Given the description of an element on the screen output the (x, y) to click on. 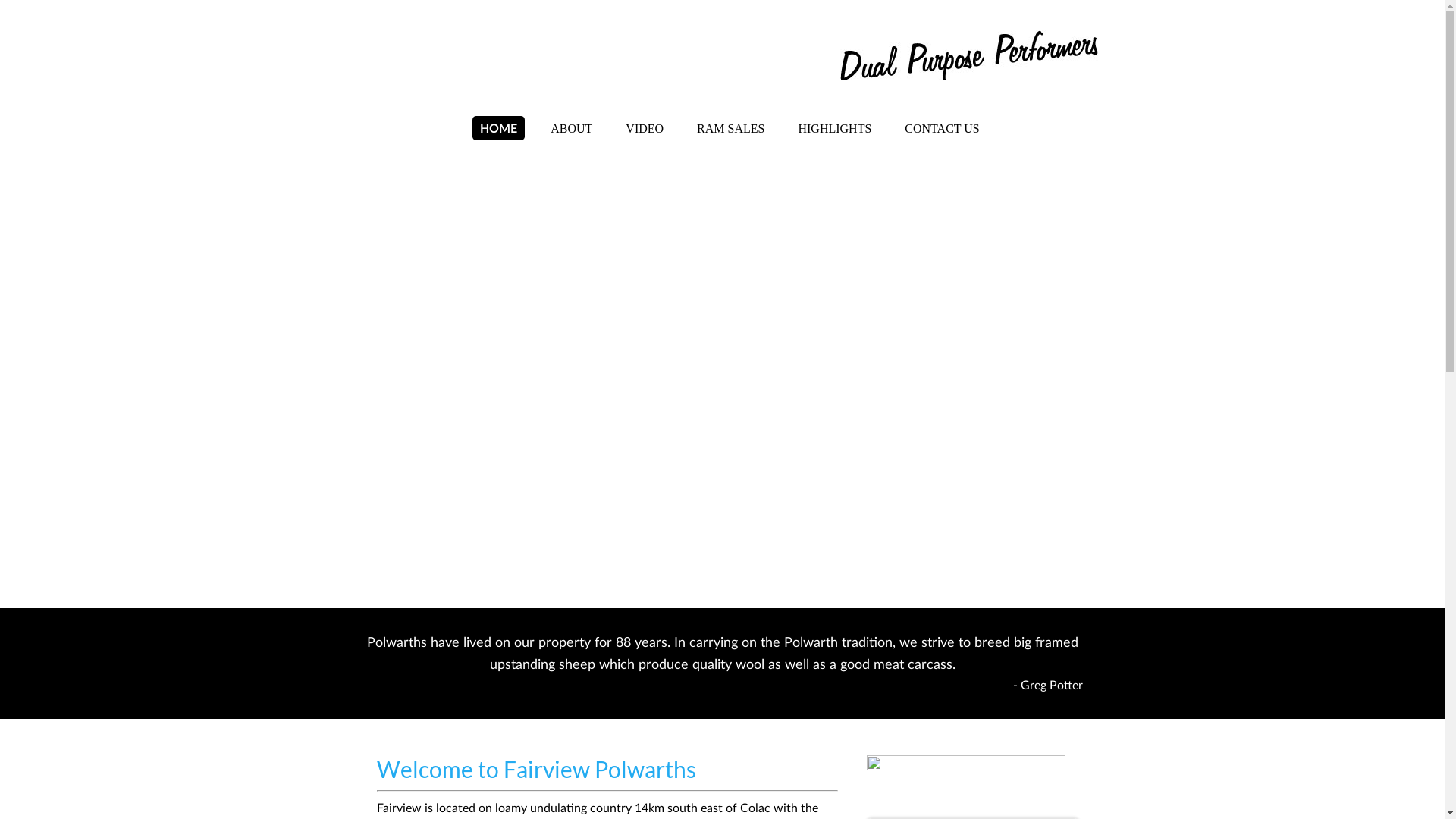
VIDEO Element type: text (644, 128)
RAM SALES Element type: text (730, 128)
CONTACT US Element type: text (941, 128)
Fairview Polwarths Element type: text (518, 57)
HOME Element type: text (498, 128)
HIGHLIGHTS Element type: text (834, 128)
ABOUT Element type: text (570, 128)
